Given the description of an element on the screen output the (x, y) to click on. 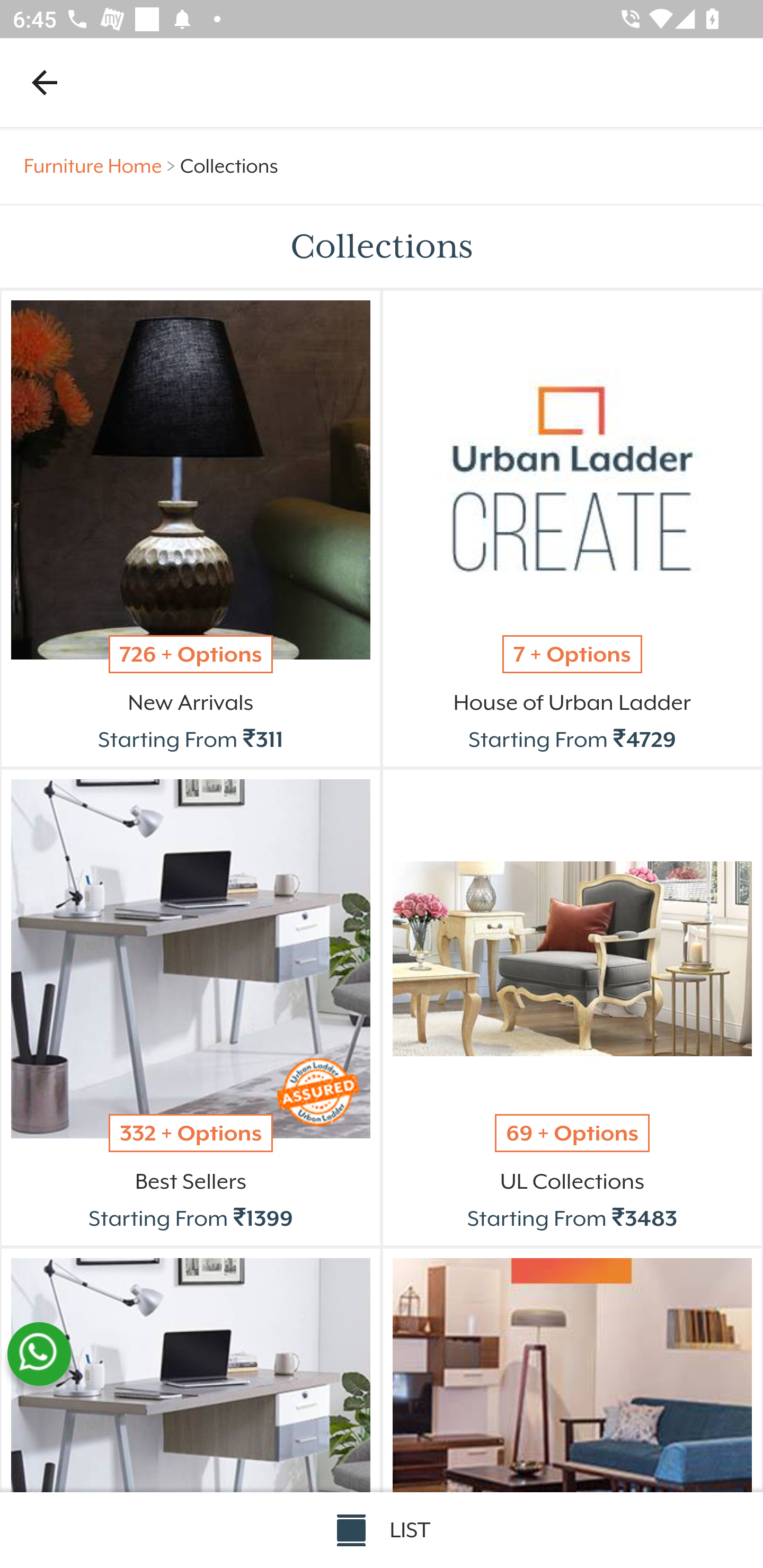
Navigate up (44, 82)
Furniture Home >  Furniture Home  >  (102, 165)
Stores Design 967 + Options Stores Design (571, 1412)
whatsapp (38, 1353)
LIST (381, 1530)
